Given the description of an element on the screen output the (x, y) to click on. 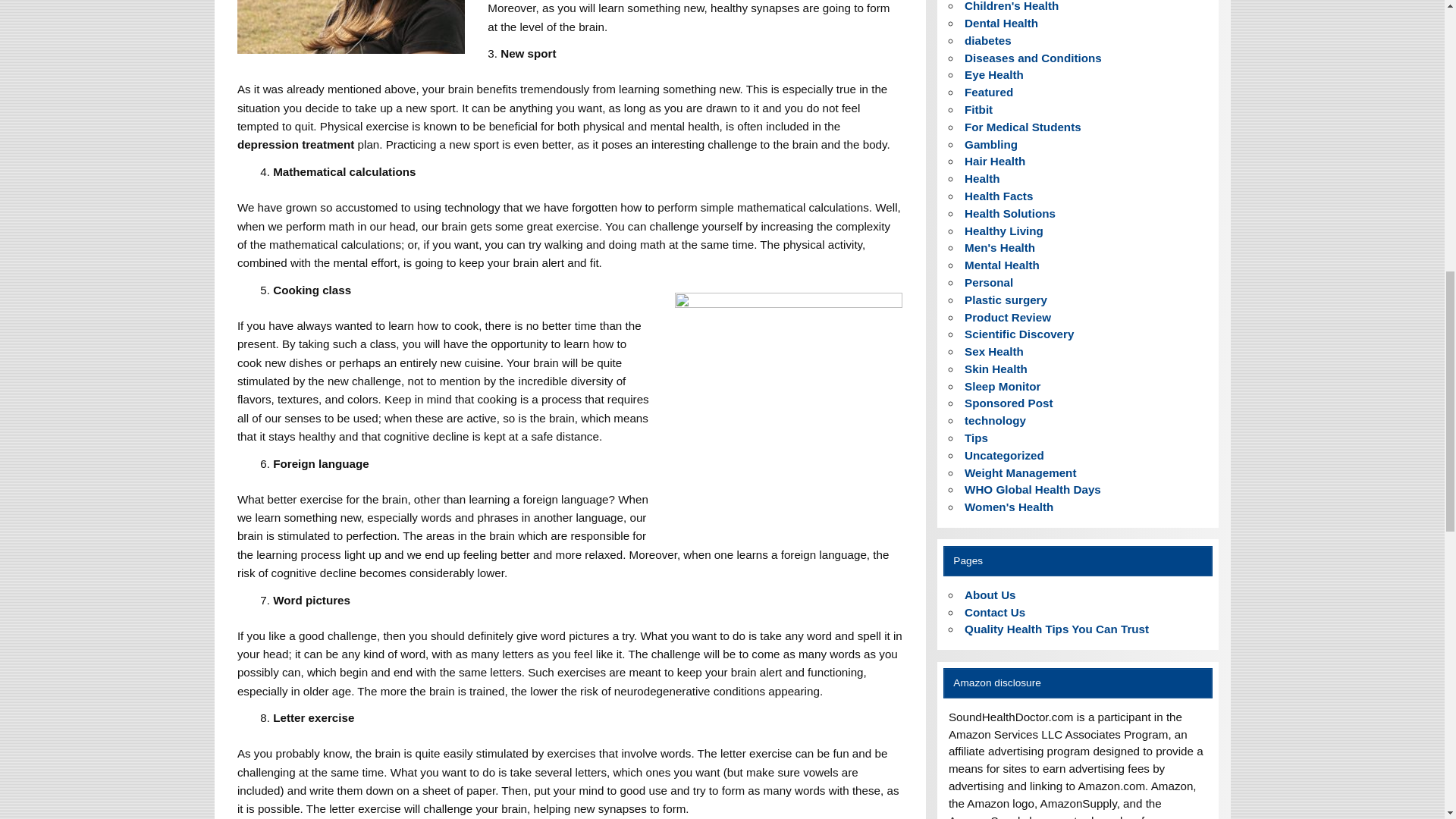
Dental Health (1000, 22)
diabetes (987, 40)
Eye Health (993, 74)
Children's Health (1010, 6)
Diseases and Conditions (1032, 57)
